Given the description of an element on the screen output the (x, y) to click on. 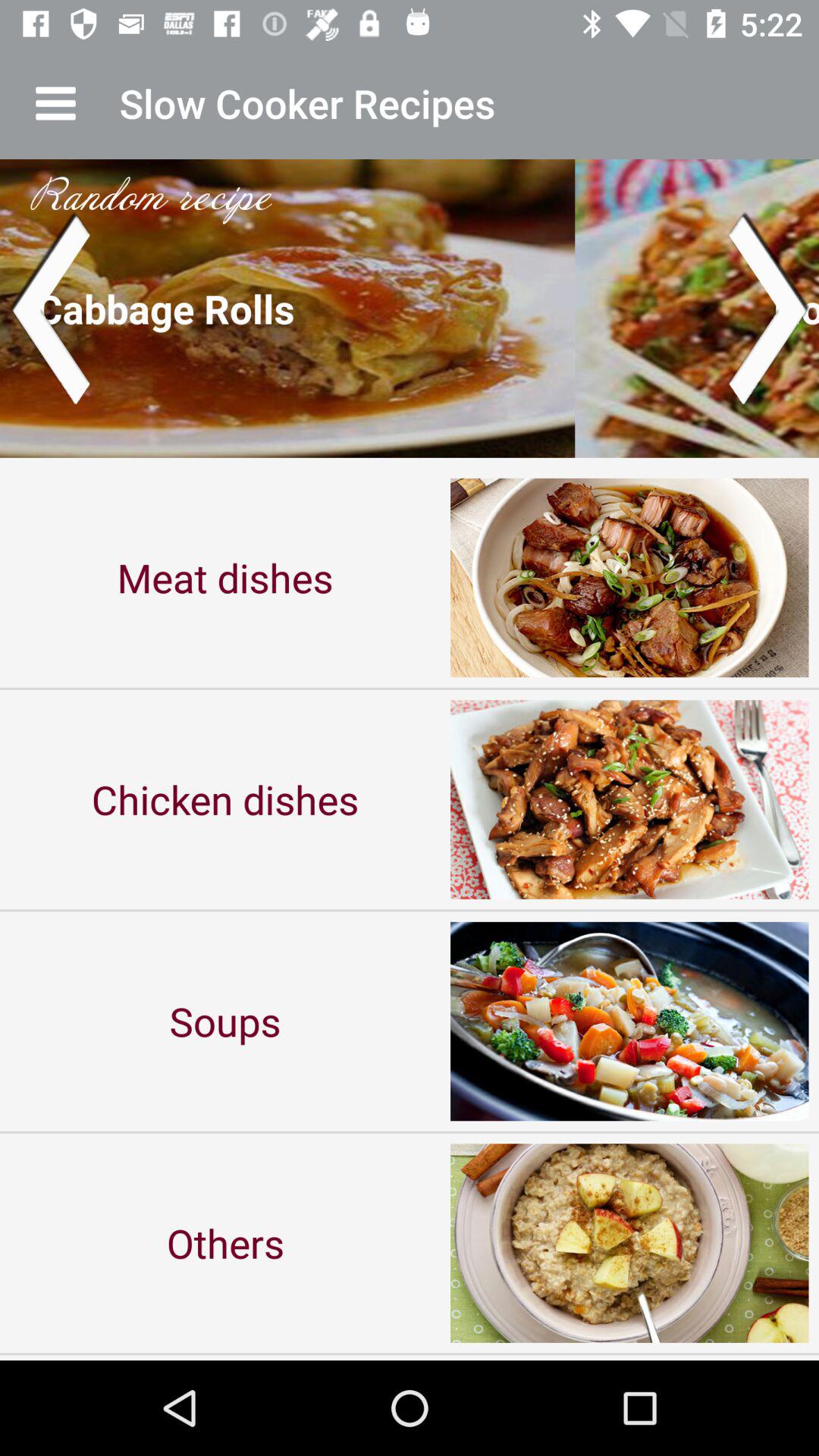
toggle recipes (409, 308)
